Given the description of an element on the screen output the (x, y) to click on. 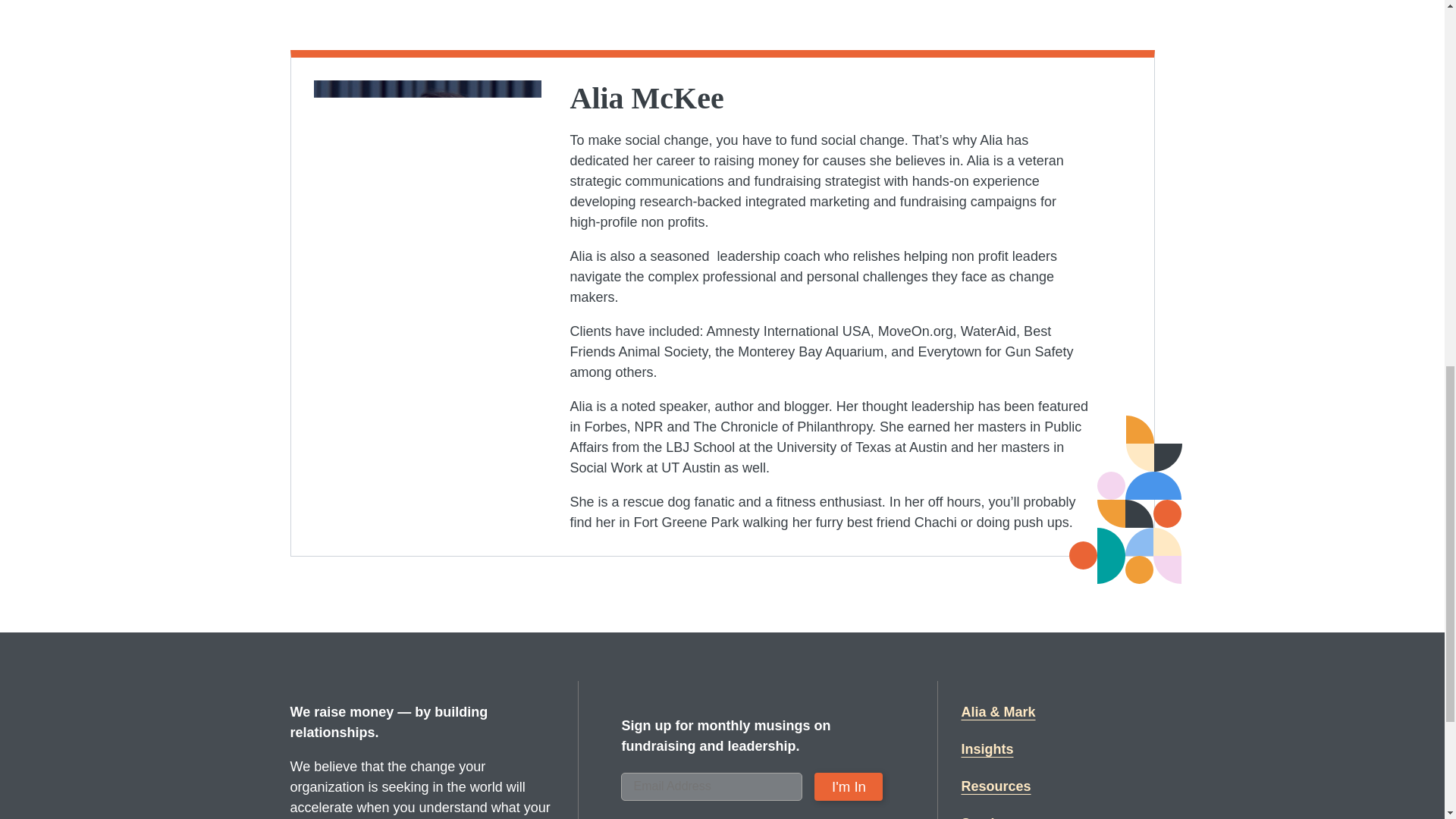
I'm In (847, 786)
Insights (986, 749)
Resources (995, 786)
I'm In (847, 786)
Services (988, 816)
